Given the description of an element on the screen output the (x, y) to click on. 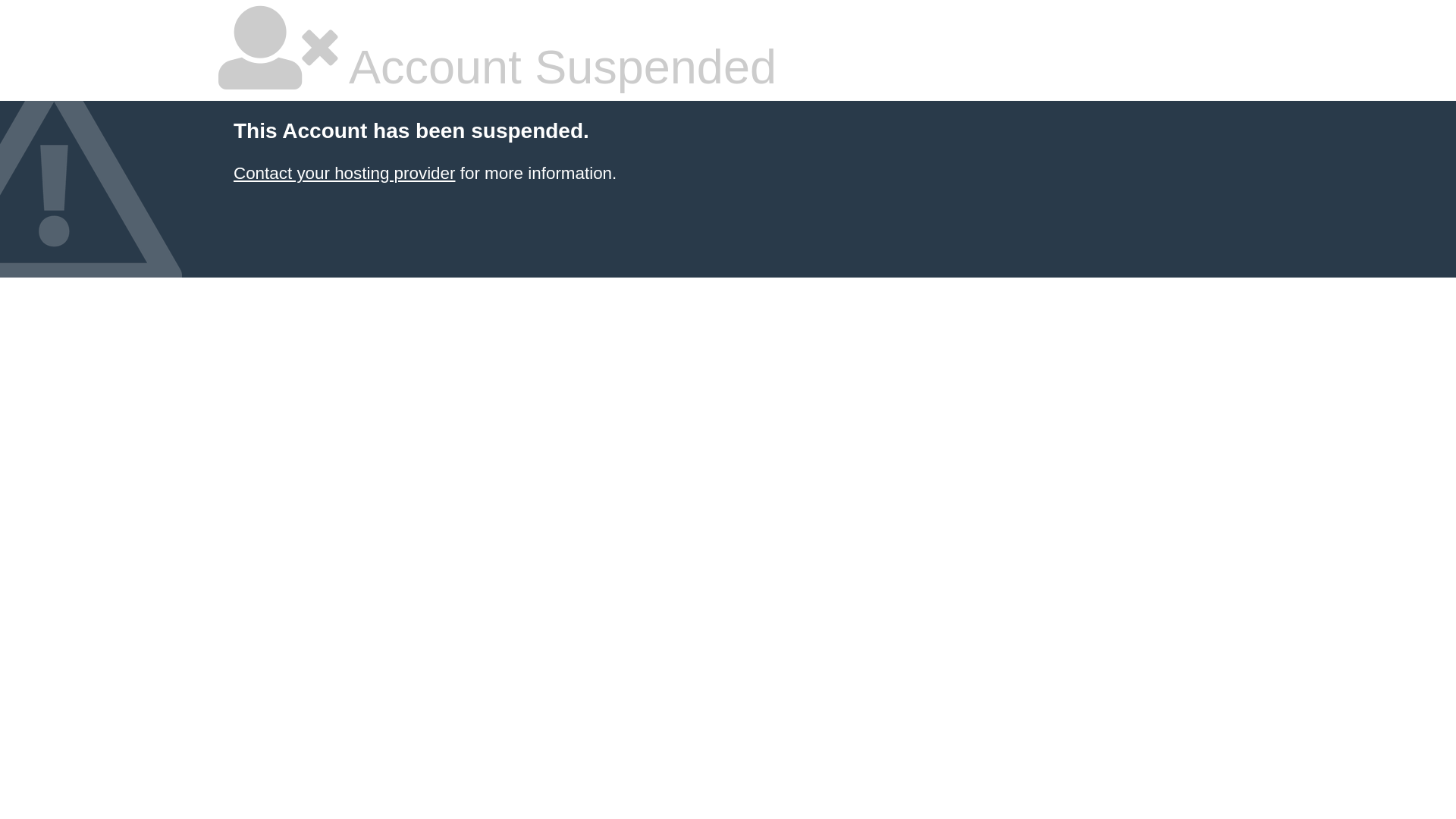
Contact your hosting provider Element type: text (344, 172)
